Given the description of an element on the screen output the (x, y) to click on. 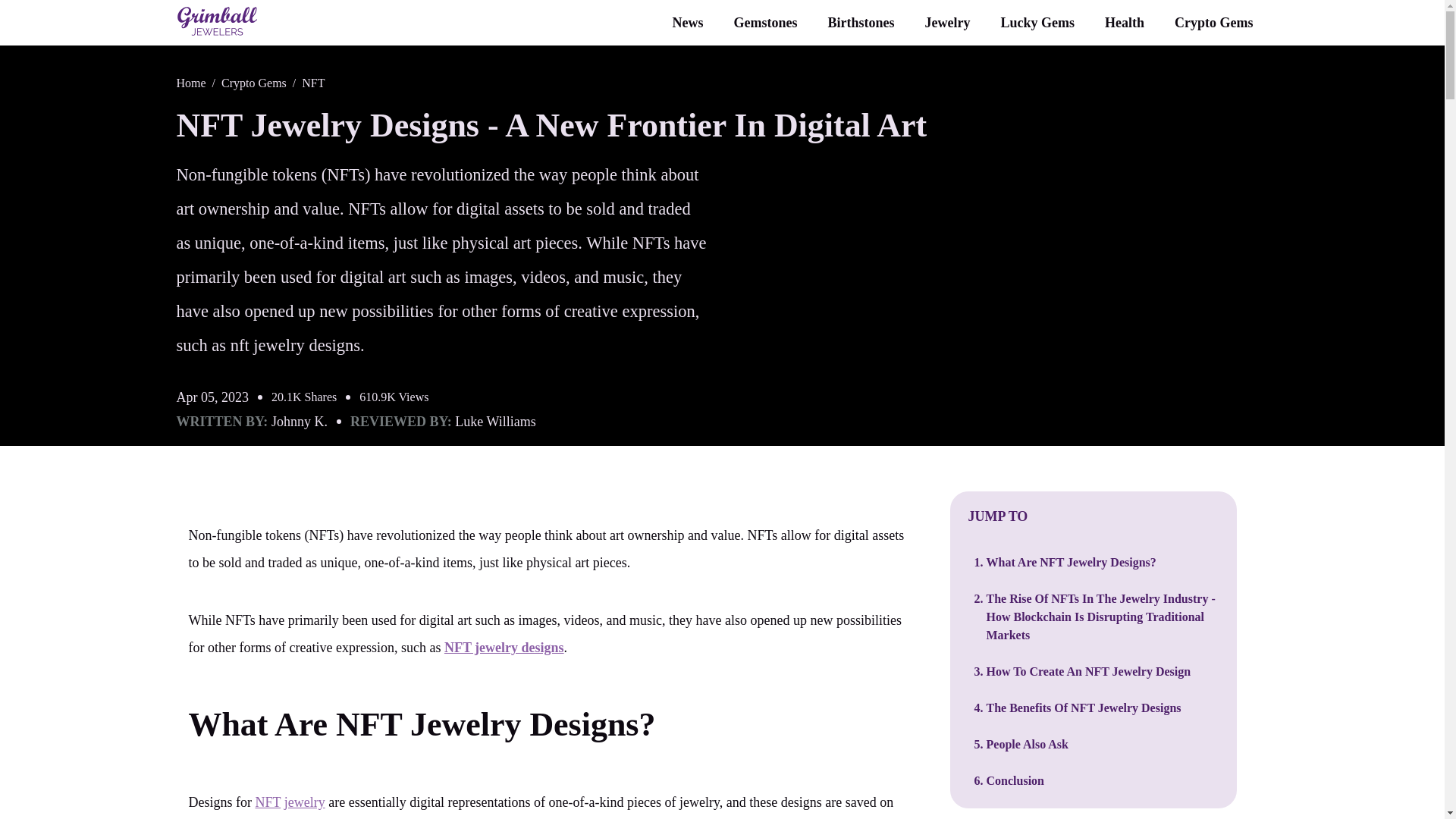
What Are NFT Jewelry Designs? (421, 723)
Last updated on Apr 05, 2023 (212, 396)
